Given the description of an element on the screen output the (x, y) to click on. 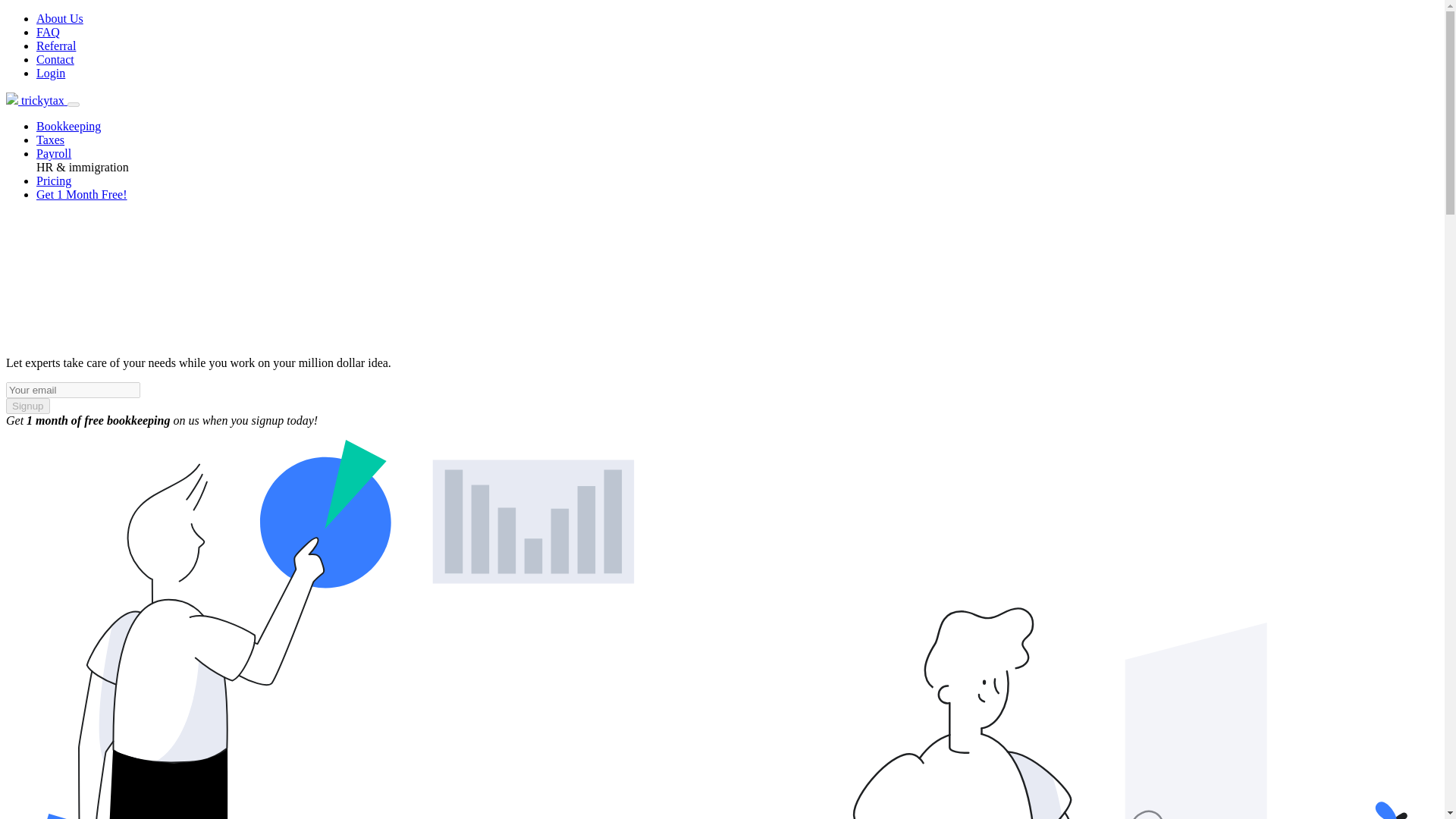
Taxes (50, 139)
Login (50, 72)
About Us (59, 18)
Referral (55, 45)
trickytax (35, 100)
Signup (27, 405)
Payroll (53, 153)
Pricing (53, 180)
Contact (55, 59)
Get 1 Month Free! (82, 194)
